Given the description of an element on the screen output the (x, y) to click on. 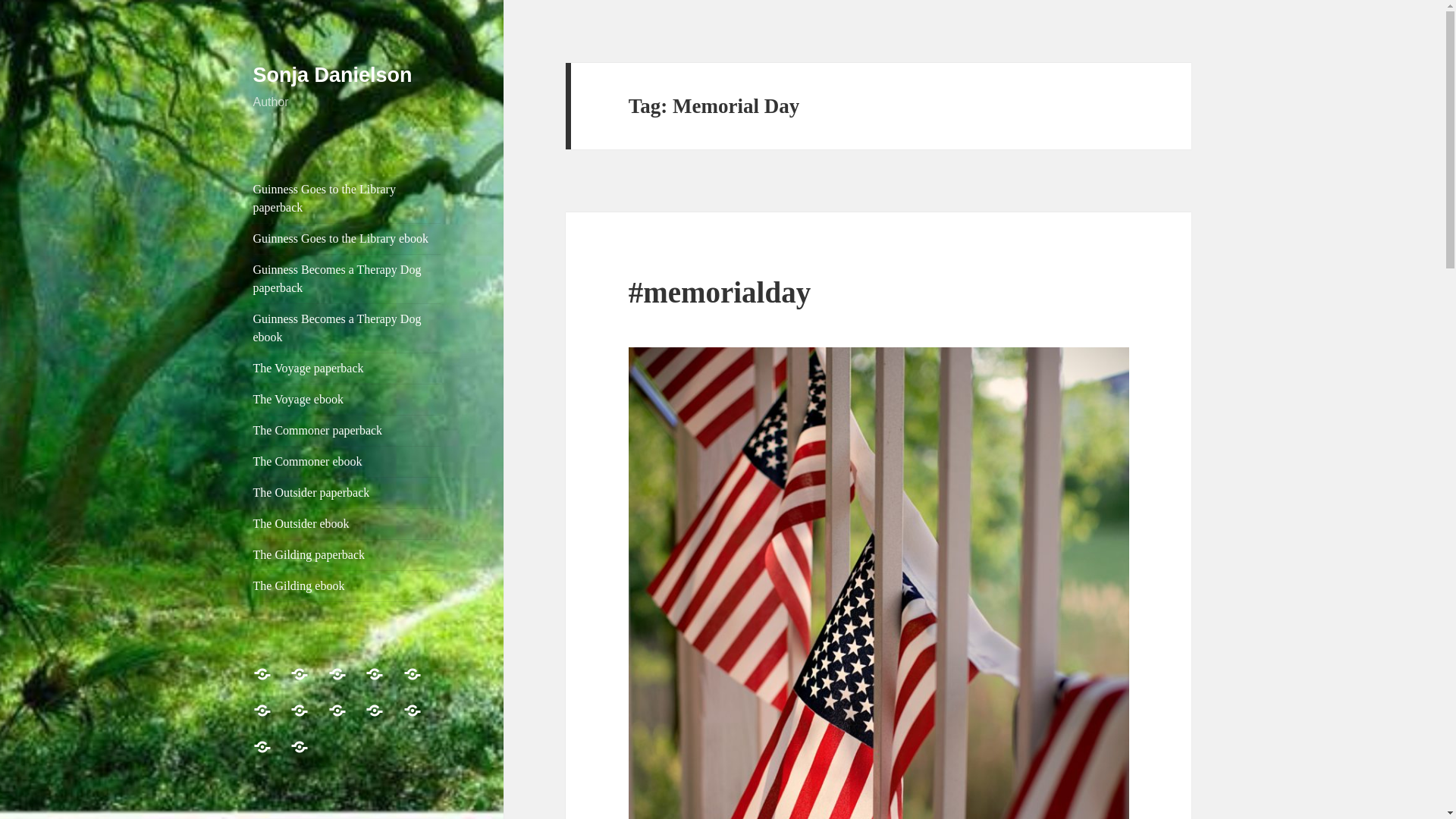
The Outsider paperback (347, 492)
Guinness Goes to the Library ebook (307, 683)
Guinness Goes to the Library ebook (347, 238)
Sonja Danielson (332, 74)
The Gilding ebook (347, 585)
The Gilding paperback (347, 554)
The Commoner paperback (347, 430)
The Commoner paperback (307, 719)
The Voyage ebook (347, 399)
